Given the description of an element on the screen output the (x, y) to click on. 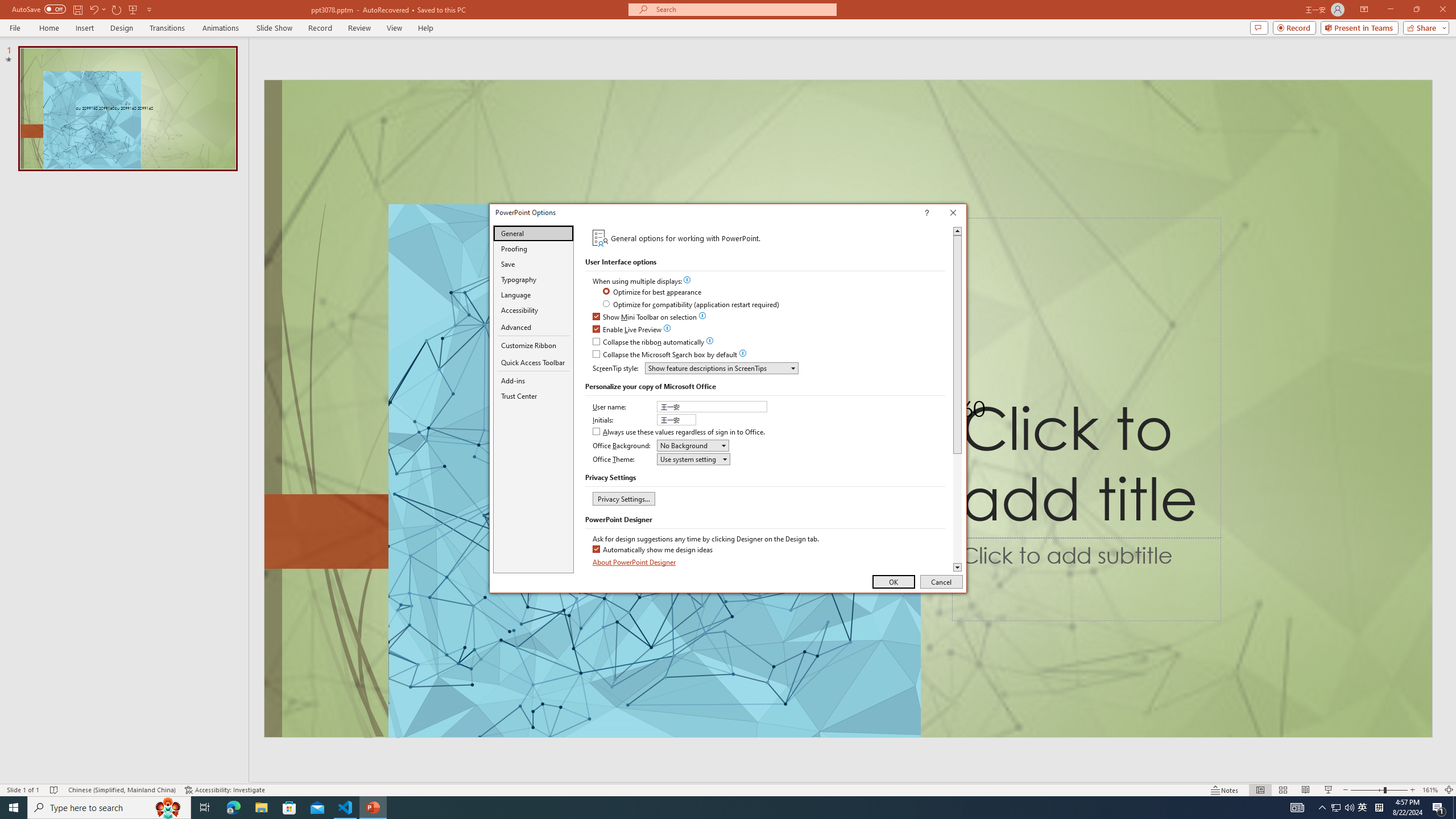
General (533, 233)
Optimize for best appearance (652, 292)
Action Center, 1 new notification (1439, 807)
Customize Ribbon (533, 344)
Cancel (941, 581)
Collapse the ribbon automatically (649, 342)
Automatically show me design ideas (653, 549)
